Given the description of an element on the screen output the (x, y) to click on. 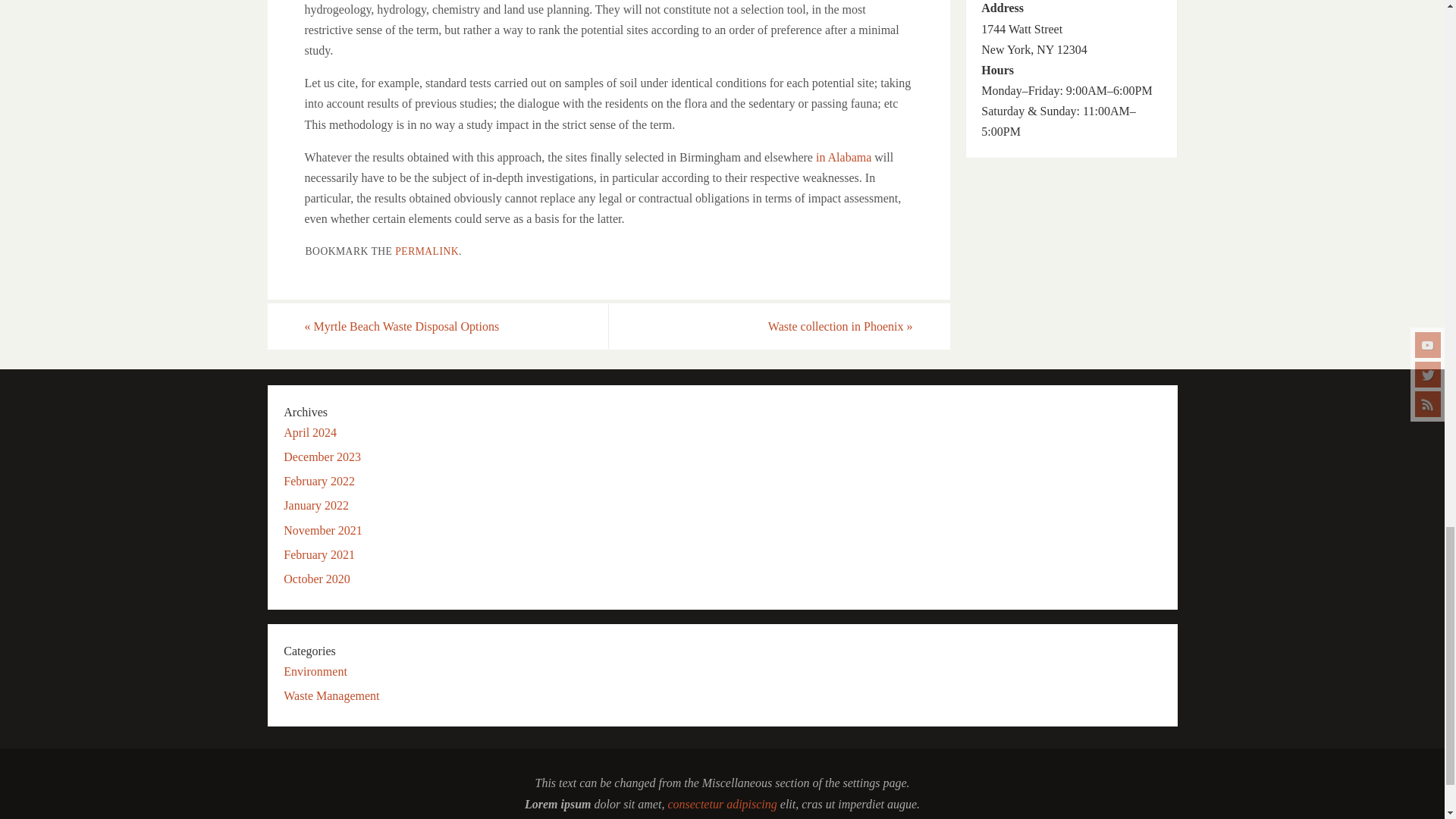
November 2021 (322, 530)
January 2022 (316, 504)
October 2020 (316, 578)
Waste Management (330, 695)
February 2021 (319, 554)
PERMALINK (426, 251)
April 2024 (309, 431)
in Alabama (842, 156)
February 2022 (319, 481)
Permalink to Management of a landfill center in Birmingham (426, 251)
